Given the description of an element on the screen output the (x, y) to click on. 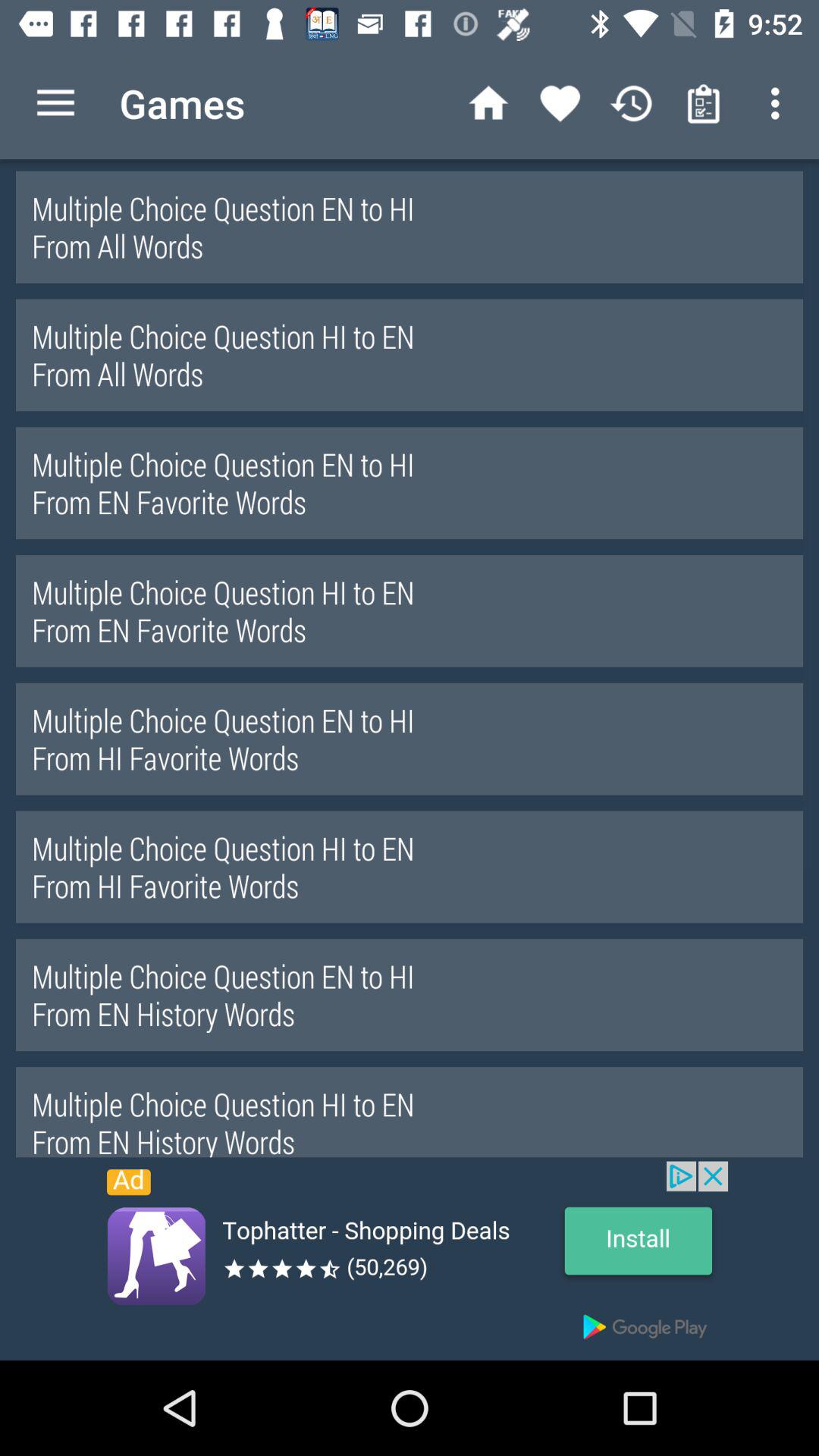
advertisement (409, 1260)
